Given the description of an element on the screen output the (x, y) to click on. 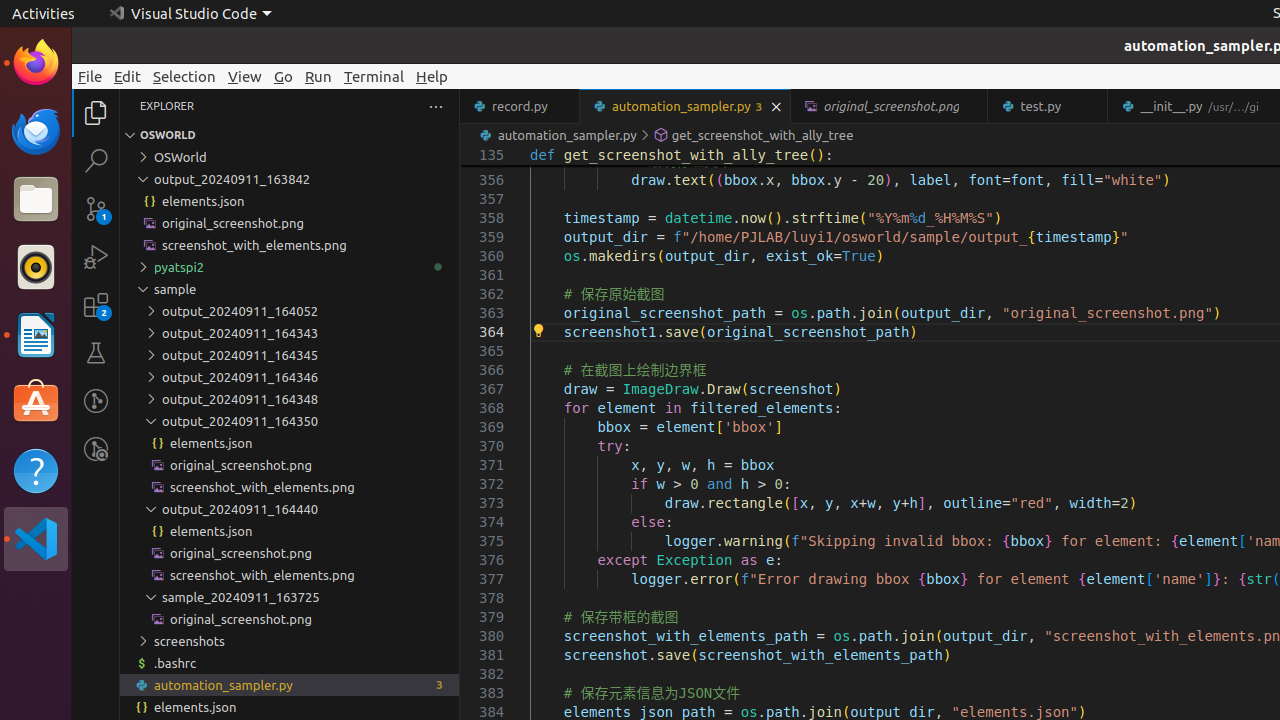
Run and Debug (Ctrl+Shift+D) Element type: page-tab (96, 257)
output_20240911_164346 Element type: tree-item (289, 377)
Go Element type: push-button (283, 76)
elements.json Element type: tree-item (289, 707)
